Given the description of an element on the screen output the (x, y) to click on. 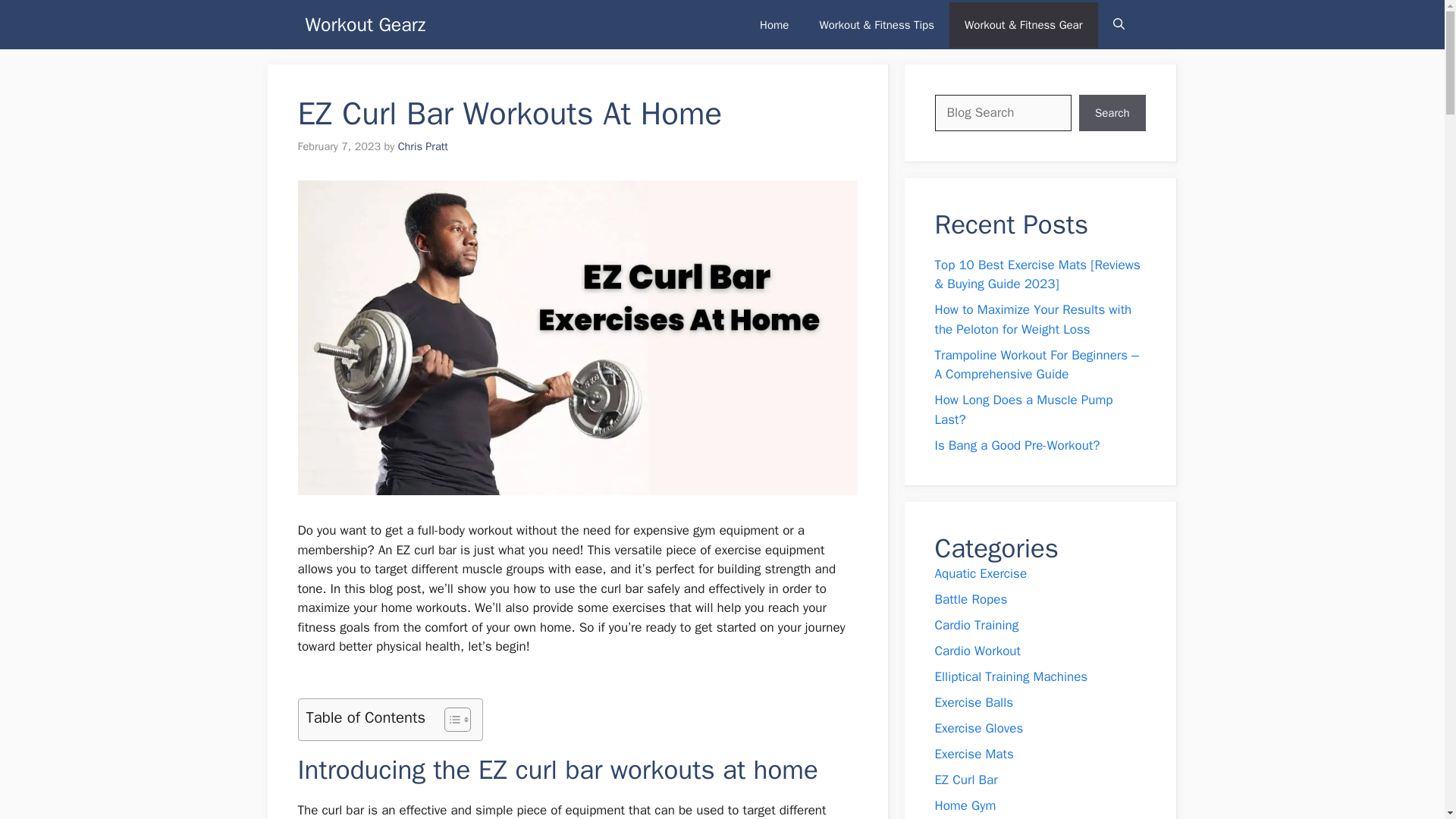
Search (1111, 113)
Workout Gearz (364, 24)
Home (773, 23)
How Long Does a Muscle Pump Last? (1023, 409)
Chris Pratt (422, 146)
View all posts by Chris Pratt (422, 146)
